Given the description of an element on the screen output the (x, y) to click on. 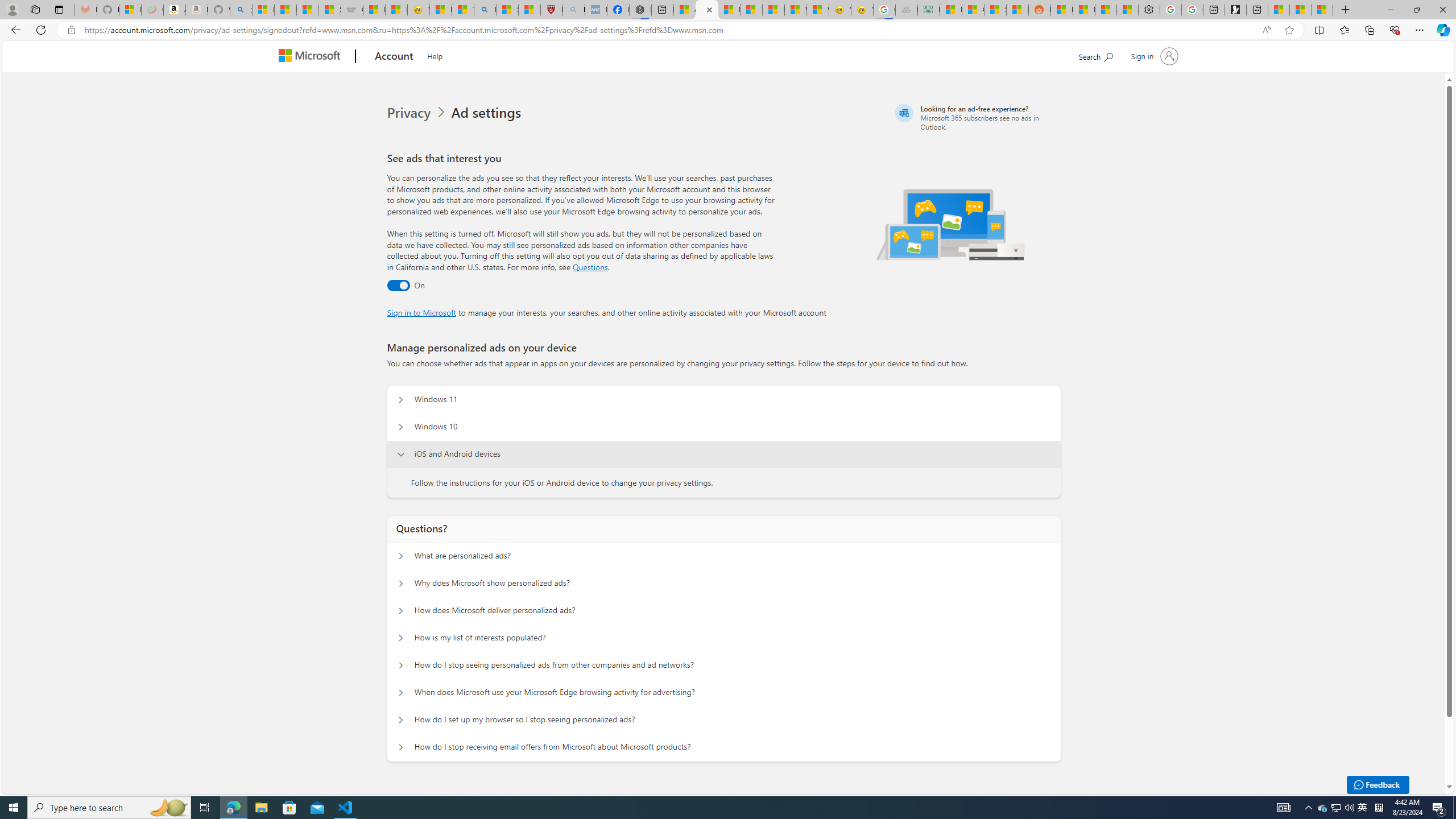
Search Microsoft.com (1095, 54)
Microsoft Start Gaming (1235, 9)
MSN (1017, 9)
Ad settings (488, 112)
Microsoft-Report a Concern to Bing (130, 9)
Refresh (40, 29)
Back (13, 29)
R******* | Trusted Community Engagement and Contributions (1061, 9)
Microsoft (311, 56)
Manage personalized ads on your device Windows 11 (401, 400)
Manage personalized ads on your device Windows 10 (401, 427)
